Given the description of an element on the screen output the (x, y) to click on. 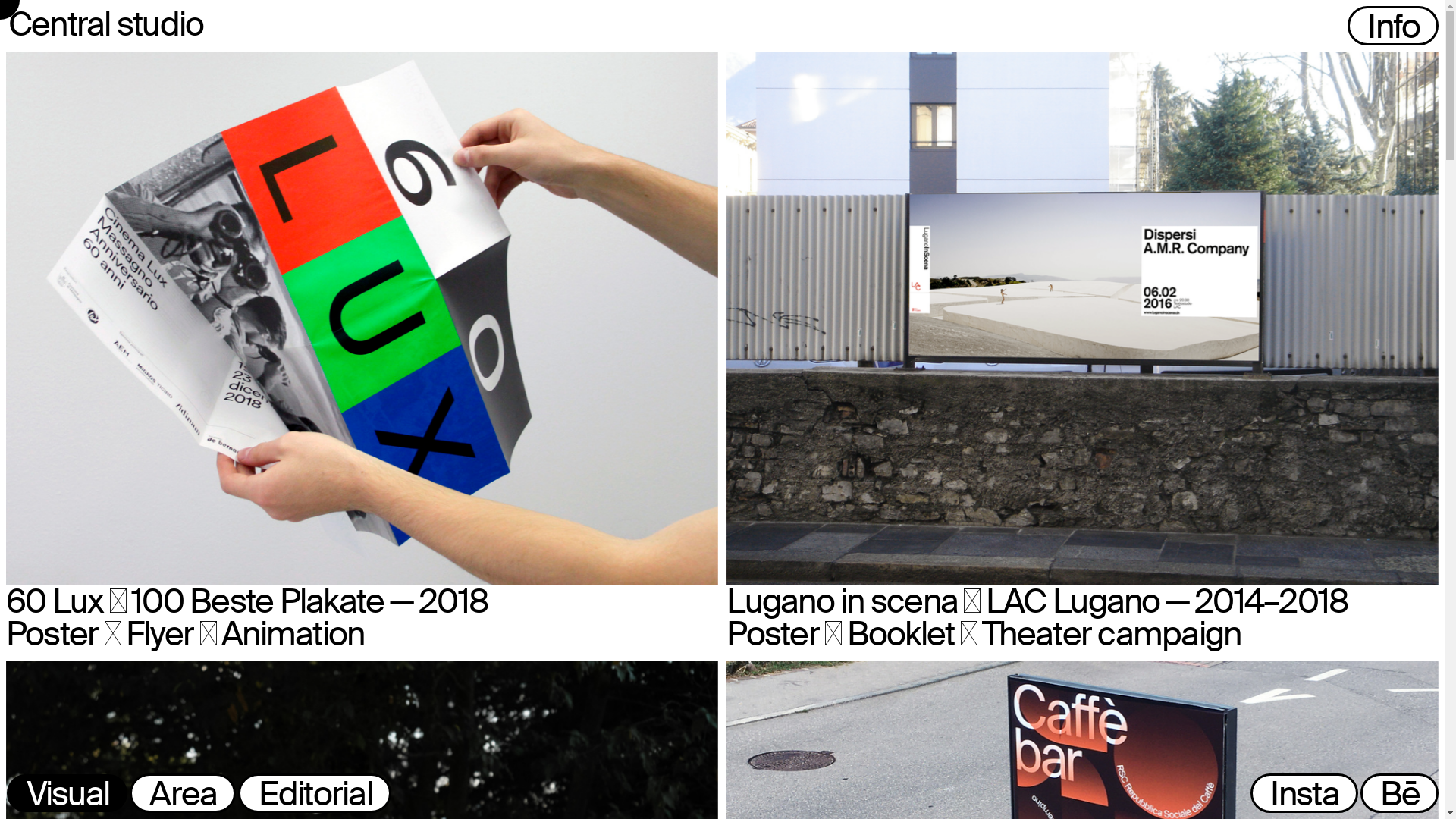
Info Element type: text (1393, 28)
Central studio Element type: text (105, 26)
   Element type: text (1339, 28)
